Given the description of an element on the screen output the (x, y) to click on. 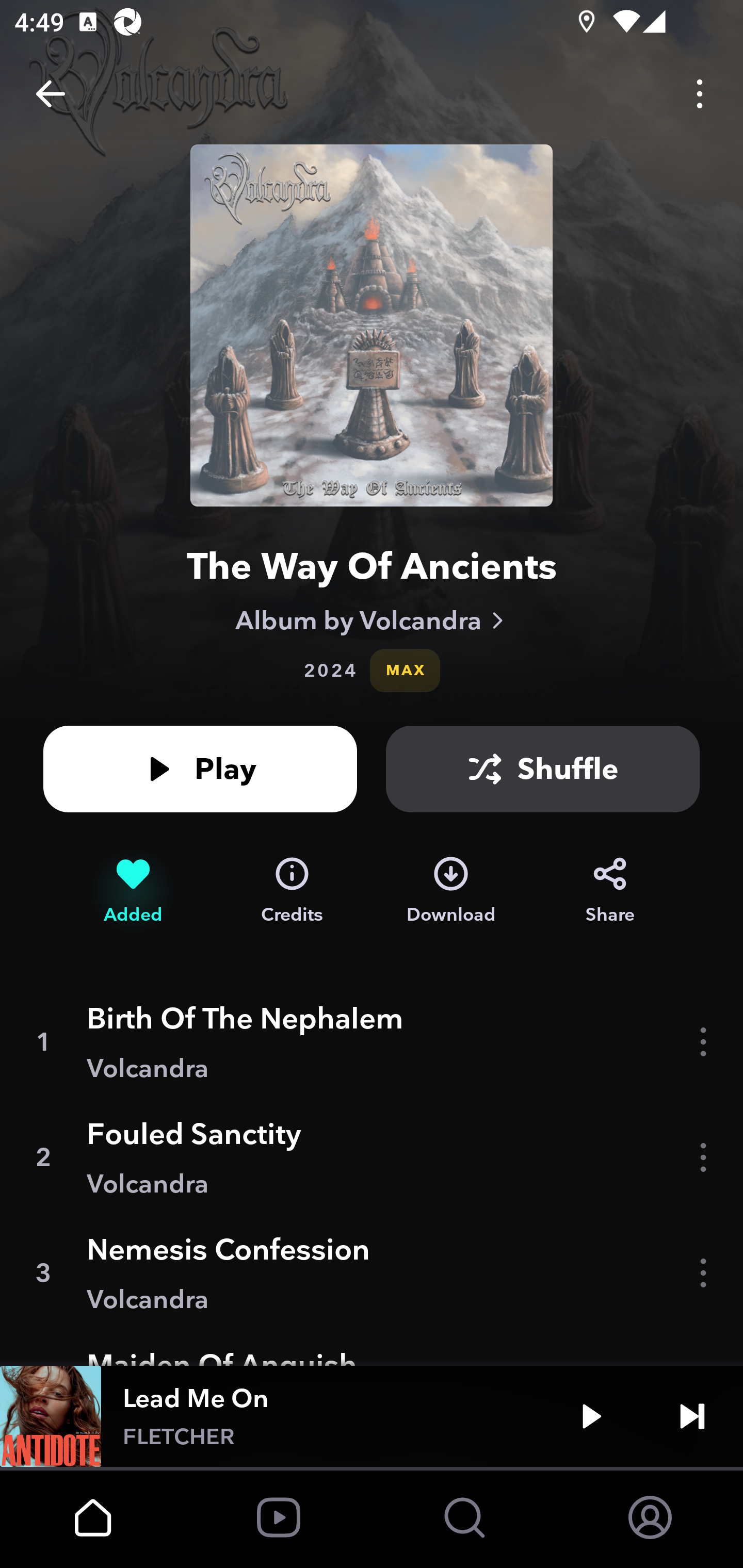
Options (699, 93)
The Way Of Ancients (371, 565)
Album by Volcandra (371, 619)
Play (200, 768)
Shuffle (542, 768)
Remove from My Collection Added (132, 890)
Credits (291, 890)
Download (450, 890)
Share (609, 890)
1 Birth Of The Nephalem Volcandra (371, 1041)
2 Fouled Sanctity Volcandra (371, 1157)
3 Nemesis Confession Volcandra (371, 1273)
Lead Me On FLETCHER Play (371, 1416)
Play (590, 1416)
